Given the description of an element on the screen output the (x, y) to click on. 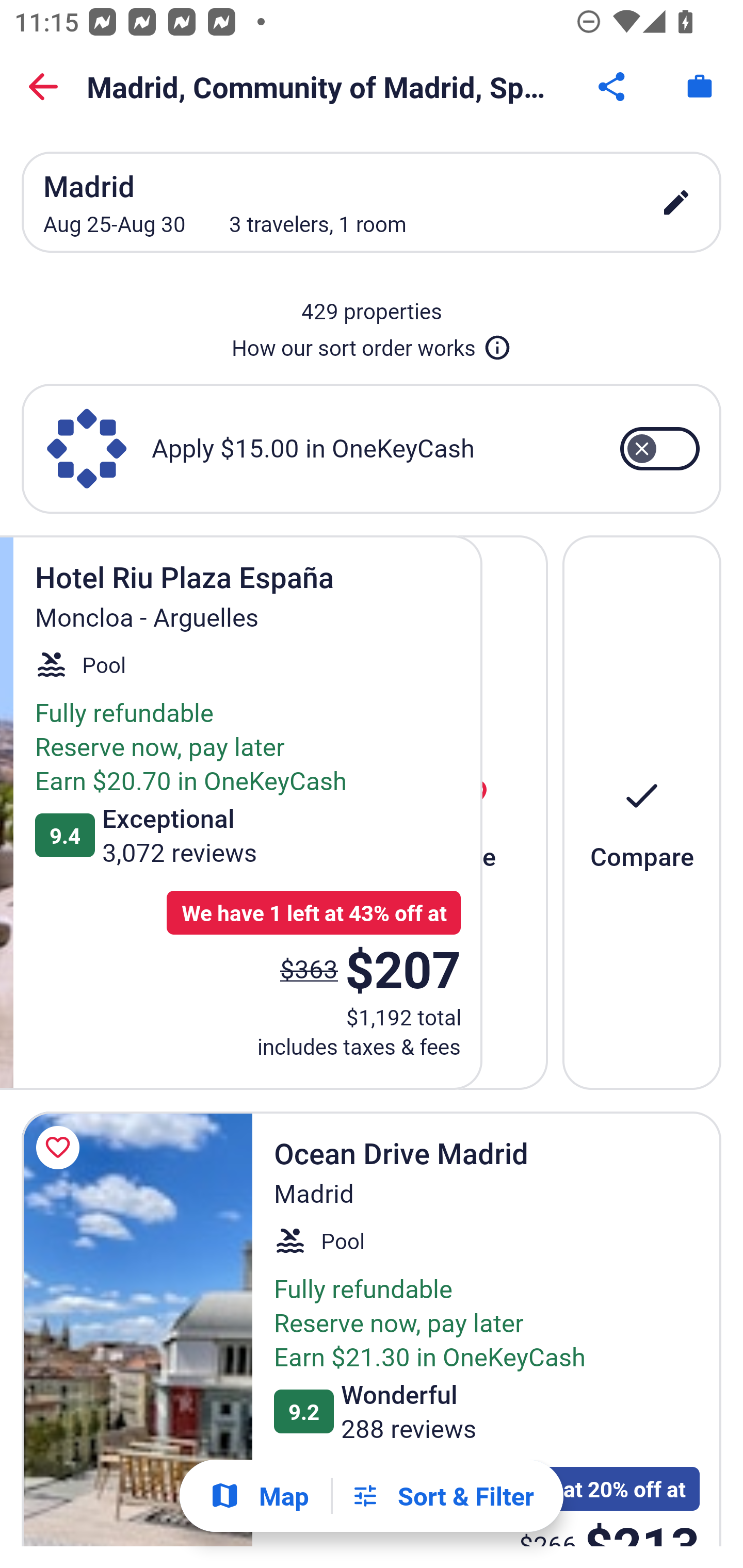
Back (43, 86)
Share Button (612, 86)
Trips. Button (699, 86)
Madrid Aug 25-Aug 30 3 travelers, 1 room edit (371, 202)
How our sort order works (371, 344)
Compare (641, 811)
$363 The price was $363 (308, 968)
Save Ocean Drive Madrid to a trip (61, 1147)
Ocean Drive Madrid (136, 1328)
Filters Sort & Filter Filters Button (442, 1495)
Show map Map Show map Button (258, 1495)
